Given the description of an element on the screen output the (x, y) to click on. 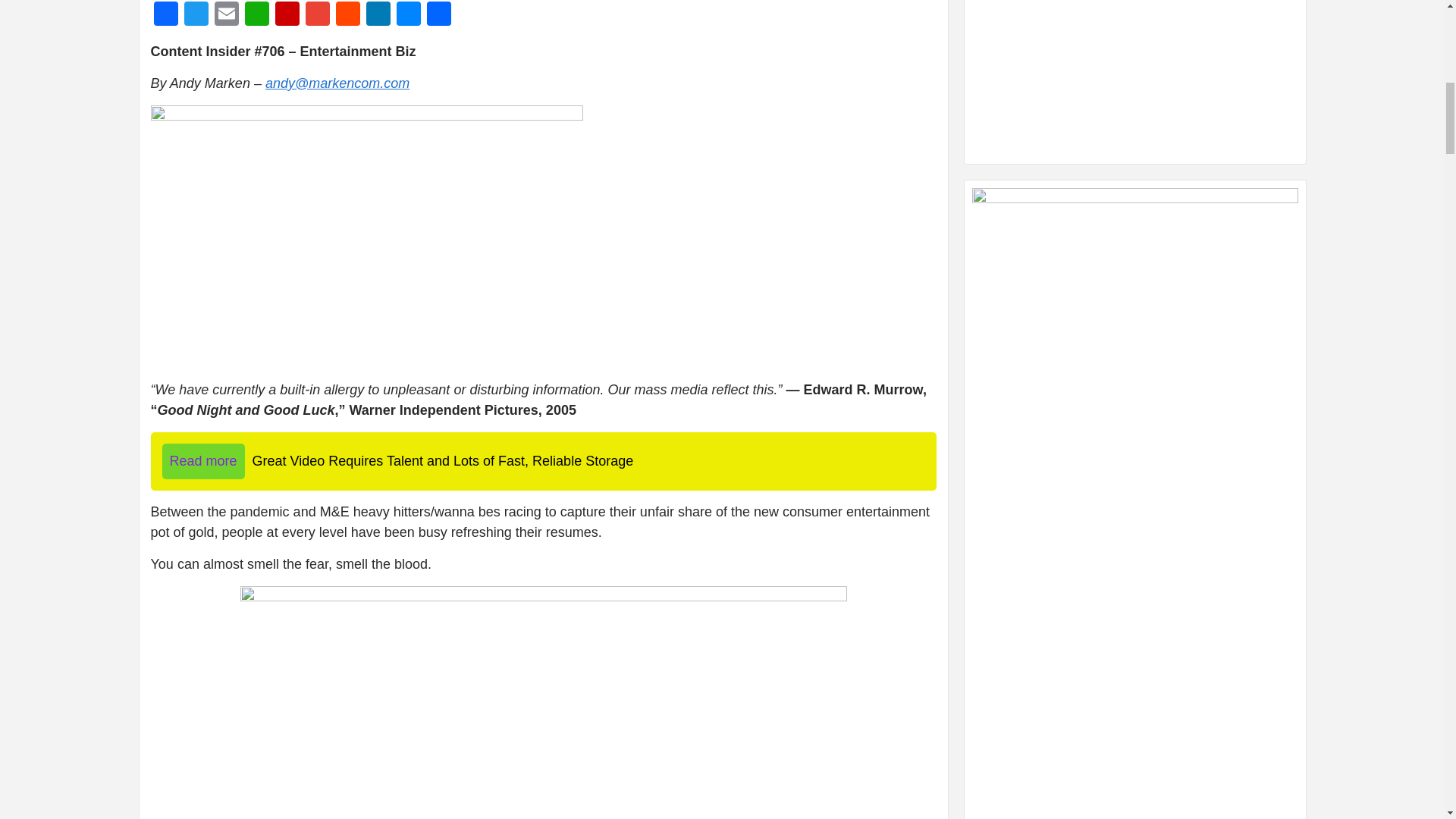
Email (226, 15)
Share (437, 15)
Reddit (346, 15)
Flipboard (285, 15)
WhatsApp (255, 15)
Messenger (408, 15)
Gmail (316, 15)
Flipboard (285, 15)
Reddit (346, 15)
Twitter (195, 15)
WhatsApp (255, 15)
Facebook (164, 15)
Email (226, 15)
Facebook (164, 15)
